Given the description of an element on the screen output the (x, y) to click on. 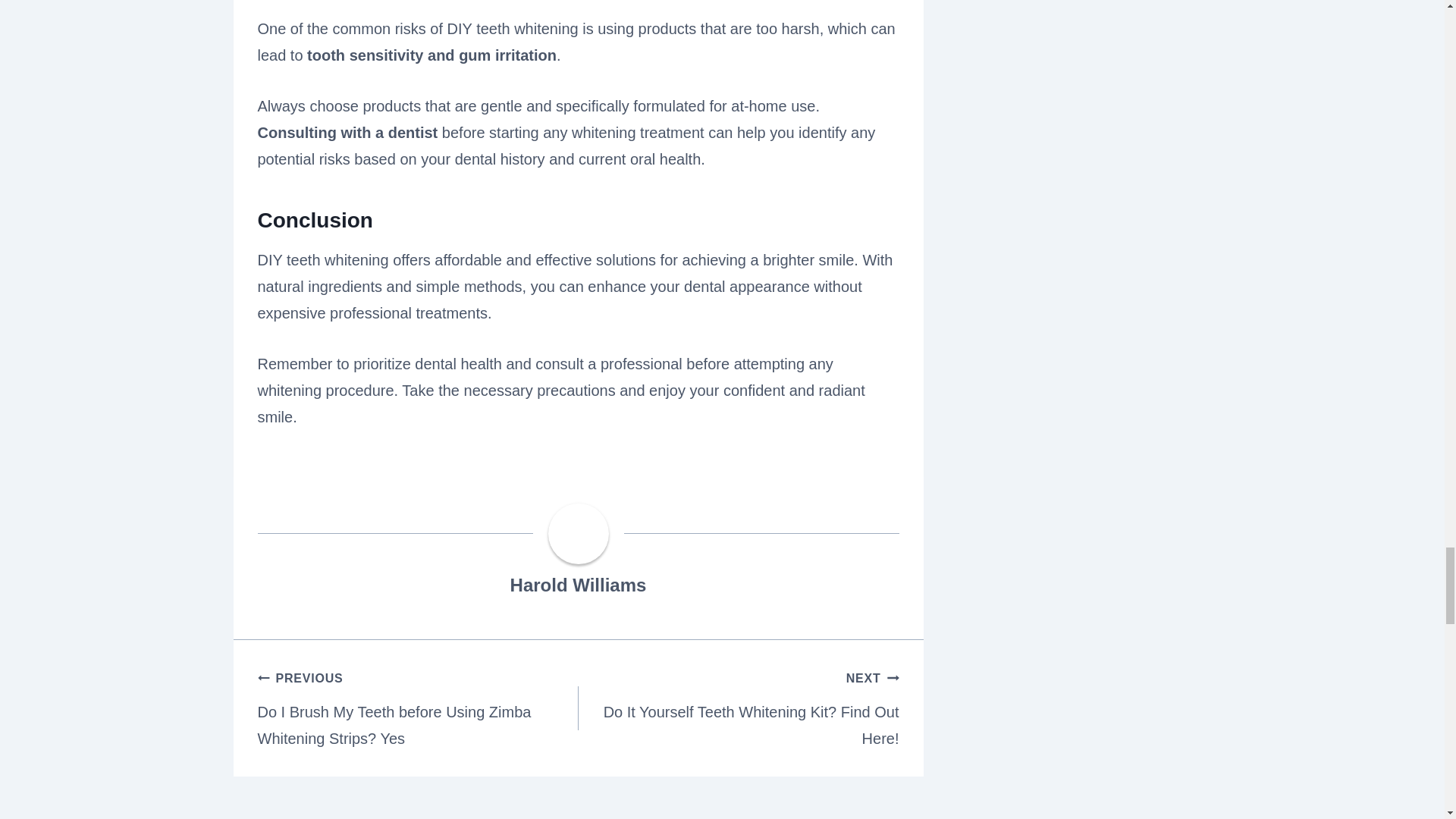
Harold Williams (578, 584)
